Given the description of an element on the screen output the (x, y) to click on. 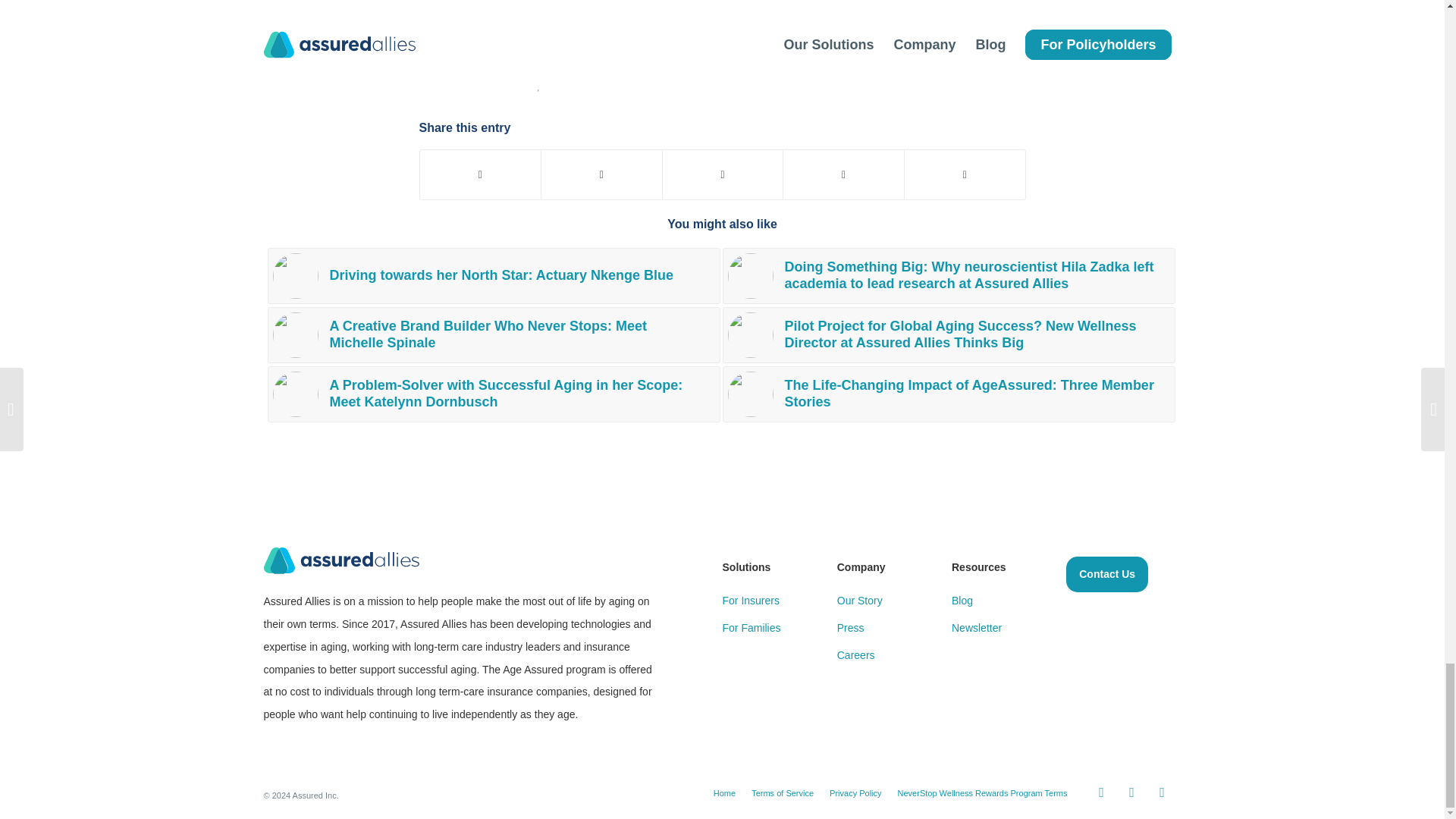
SUCCESSFUL AGING (615, 84)
Michal Herz lecturing (750, 334)
michelle (295, 334)
Driving towards her North Star: Actuary Nkenge Blue (492, 275)
Driving towards her North Star: Actuary Nkenge Blue (492, 275)
HOLIDAYS (500, 84)
Hila Zadka, Phd. (750, 275)
